Given the description of an element on the screen output the (x, y) to click on. 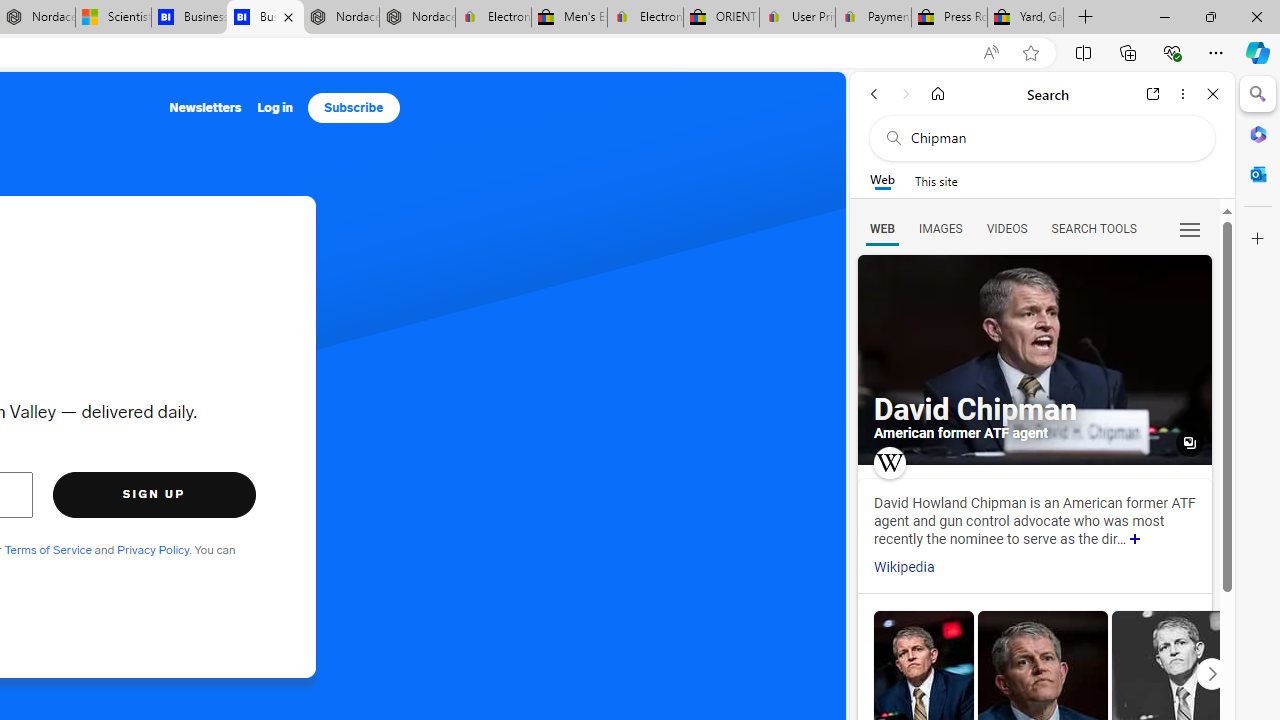
Log in (275, 107)
Show more (1135, 539)
Newsletters (204, 107)
